Given the description of an element on the screen output the (x, y) to click on. 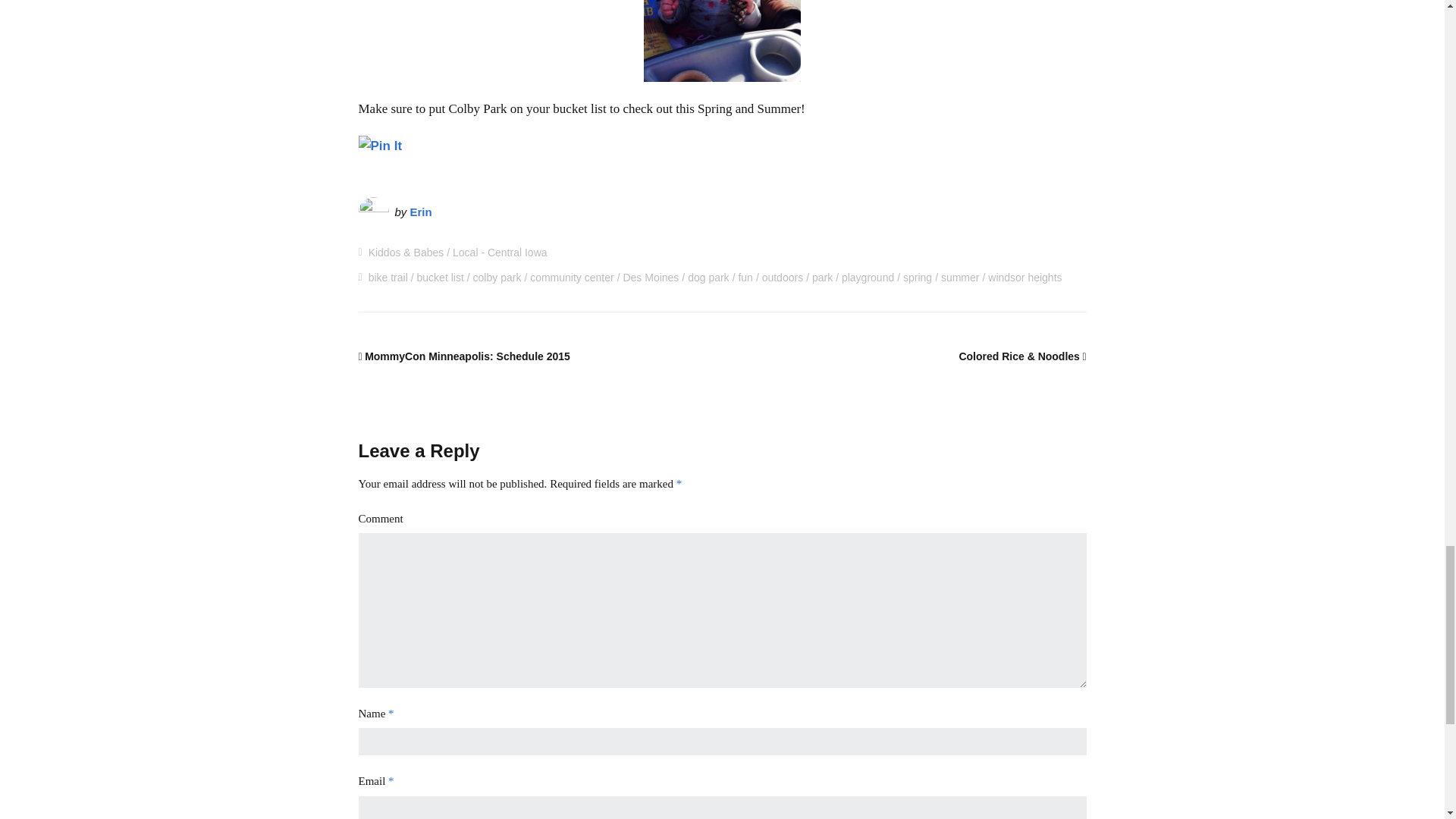
playground (867, 277)
Erin (421, 211)
dog park (708, 277)
Des Moines (650, 277)
park (822, 277)
outdoors (782, 277)
summer (959, 277)
community center (570, 277)
spring (916, 277)
fun (745, 277)
windsor heights (1024, 277)
MommyCon Minneapolis: Schedule 2015 (463, 356)
Local - Central Iowa (499, 252)
colby park (497, 277)
bike trail (387, 277)
